Given the description of an element on the screen output the (x, y) to click on. 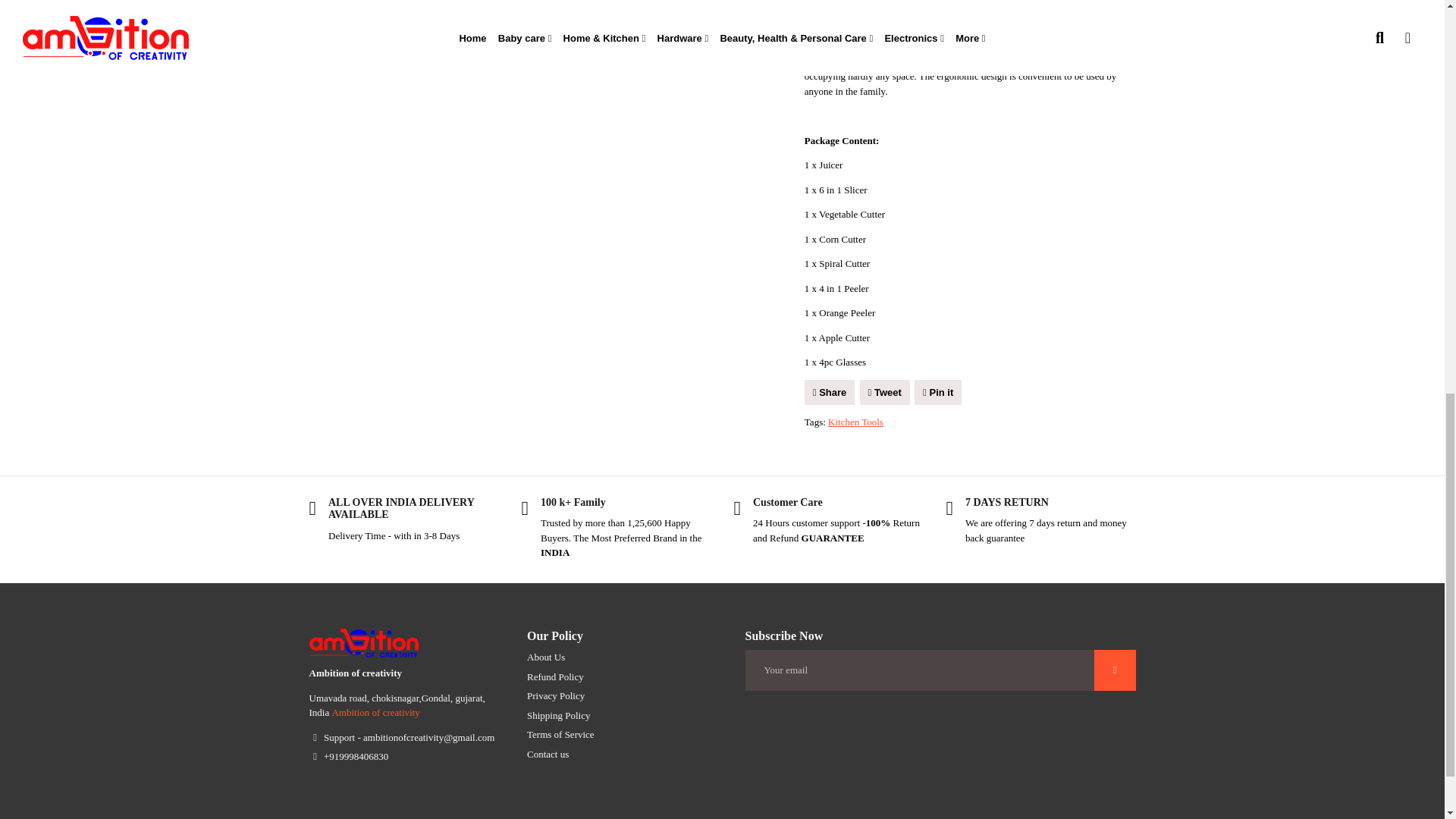
Pin on Pinterest (937, 392)
Tweet on Twitter (885, 392)
Share on Facebook (830, 392)
